Given the description of an element on the screen output the (x, y) to click on. 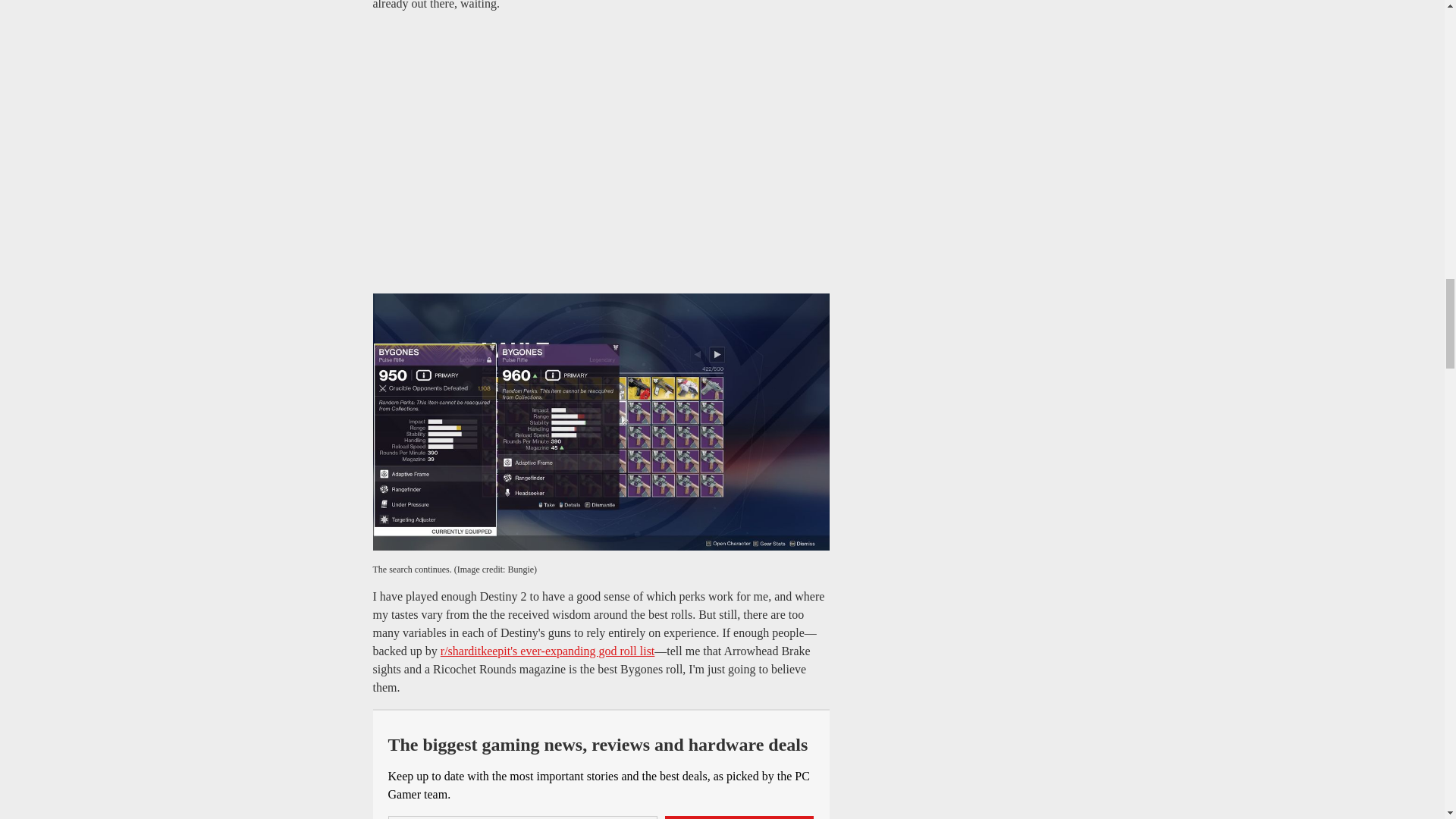
Sign me up (739, 817)
